Given the description of an element on the screen output the (x, y) to click on. 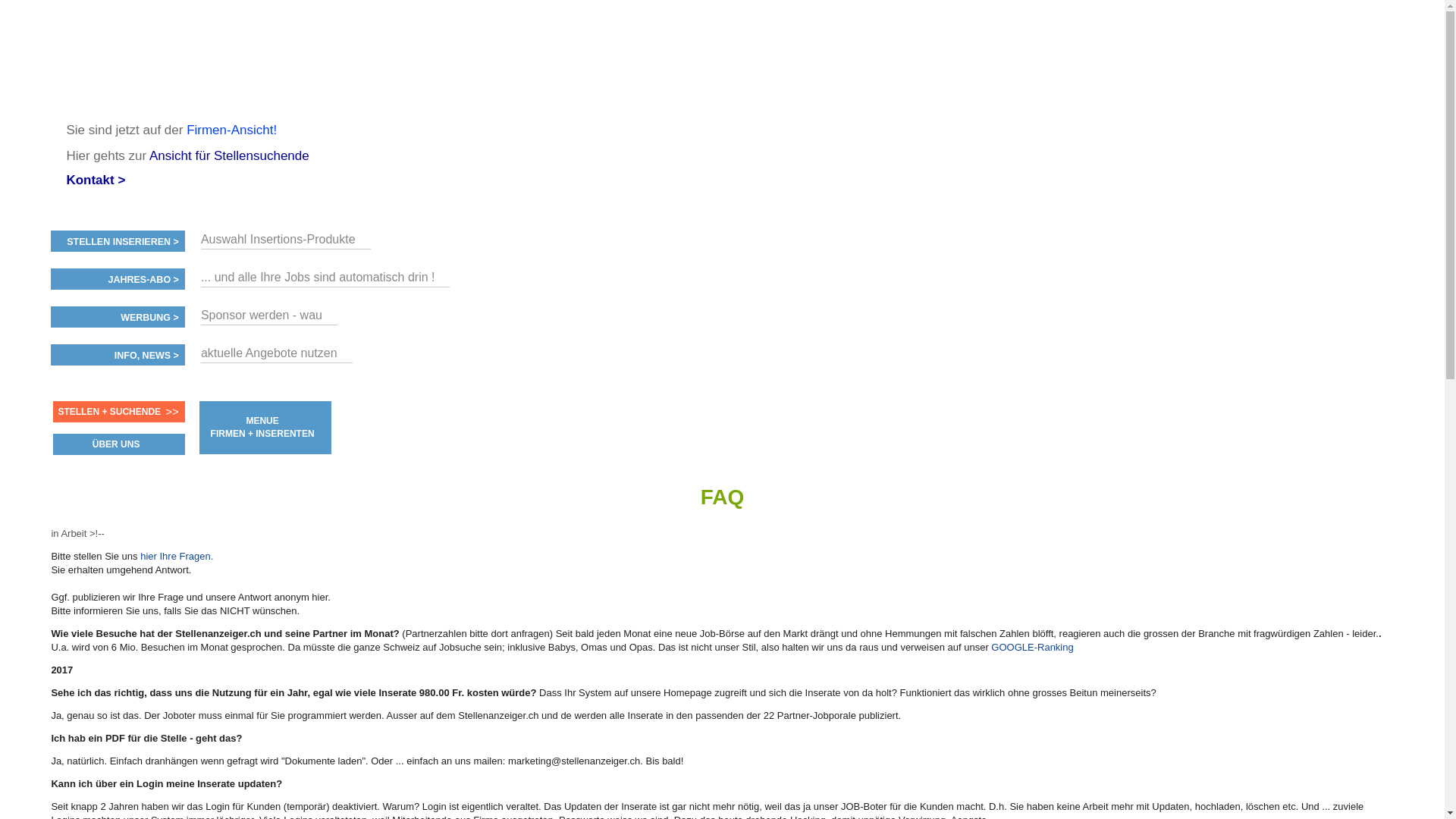
... und alle Ihre Jobs sind automatisch drin ! Element type: text (317, 276)
STELLEN INSERIEREN > Element type: text (122, 241)
STELLEN + SUCHENDE Element type: text (109, 411)
Sponsor werden - wau Element type: text (261, 314)
hier Ihre Fragen. Element type: text (176, 555)
GOOGLE-Ranking Element type: text (1032, 646)
WERBUNG > Element type: text (149, 317)
Kontakt > Element type: text (95, 179)
aktuelle Angebote nutzen Element type: text (268, 352)
JAHRES-ABO > Element type: text (142, 279)
www.StellenAnzeiger.ch Element type: text (185, 60)
Auswahl Insertions-Produkte Element type: text (277, 238)
MENUE
FIRMEN + INSERENTEN Element type: text (261, 427)
INFO, NEWS > Element type: text (146, 355)
